Given the description of an element on the screen output the (x, y) to click on. 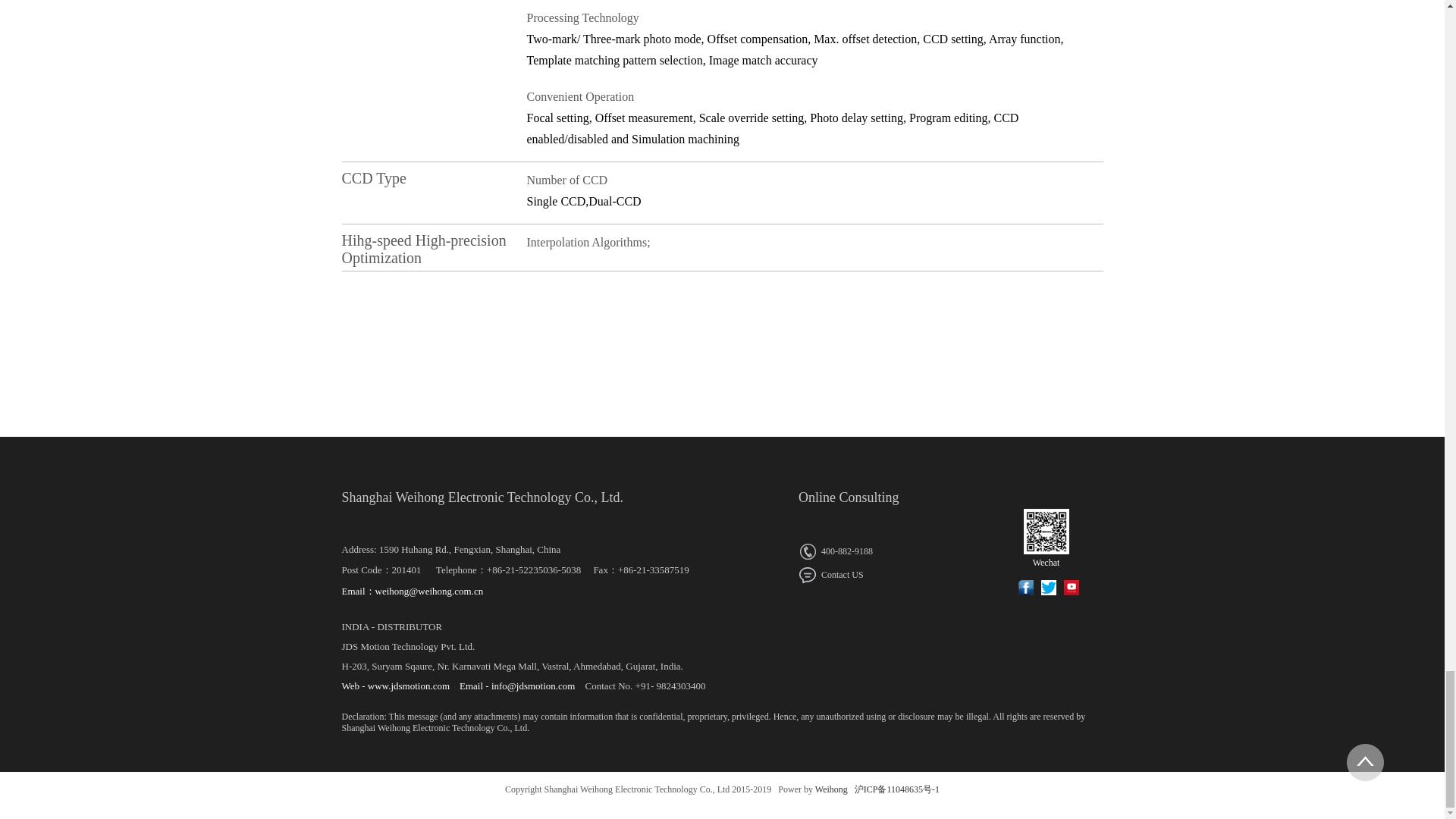
Web - www.jdsmotion.com (394, 685)
Contact US (842, 574)
 Weihong (829, 788)
